Given the description of an element on the screen output the (x, y) to click on. 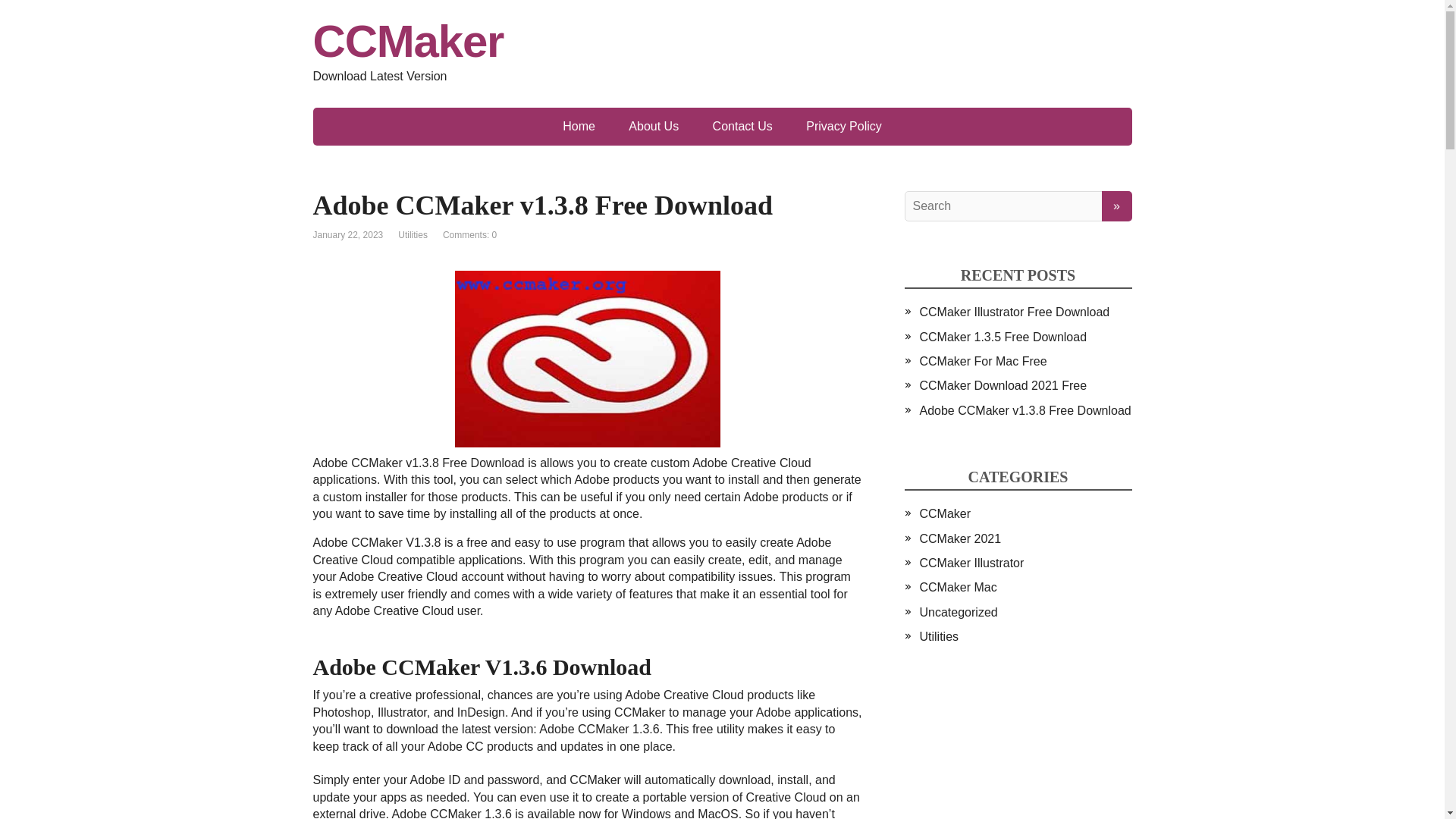
Comments: 0 (469, 235)
About Us (653, 126)
CCMaker (944, 513)
CCMaker 1.3.5 Free Download (1002, 336)
Contact Us (742, 126)
CCMaker For Mac Free (982, 360)
Privacy Policy (843, 126)
CCMaker Illustrator Free Download (1013, 311)
CCMaker 2021 (959, 538)
CCMaker (722, 41)
Adobe CCMaker v1.3.8 Free Download (1024, 410)
Home (578, 126)
Utilities (412, 235)
CCMaker Download 2021 Free (1002, 385)
